Given the description of an element on the screen output the (x, y) to click on. 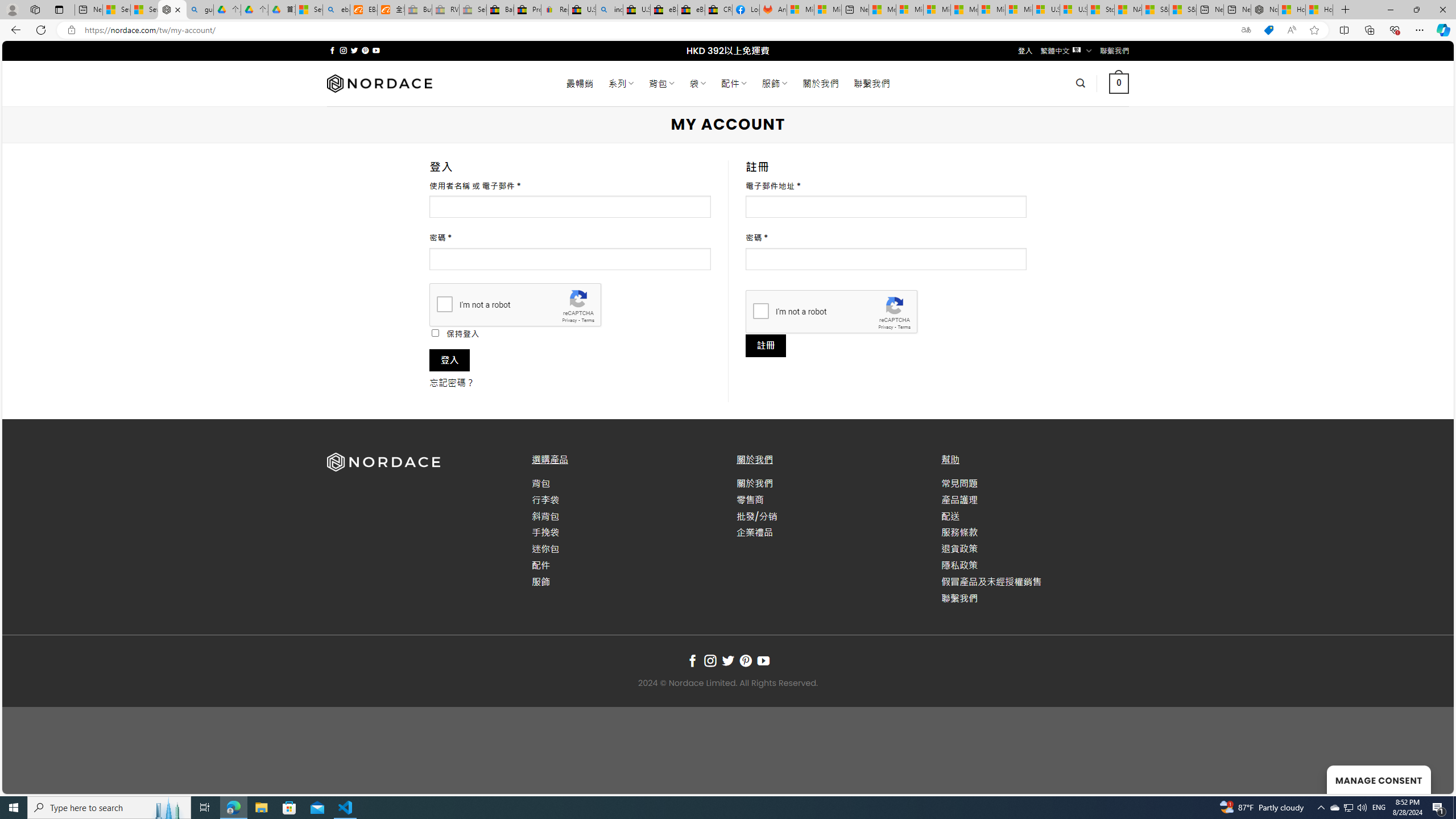
Follow on Twitter (727, 660)
Follow on Pinterest (745, 660)
Log into Facebook (746, 9)
